Given the description of an element on the screen output the (x, y) to click on. 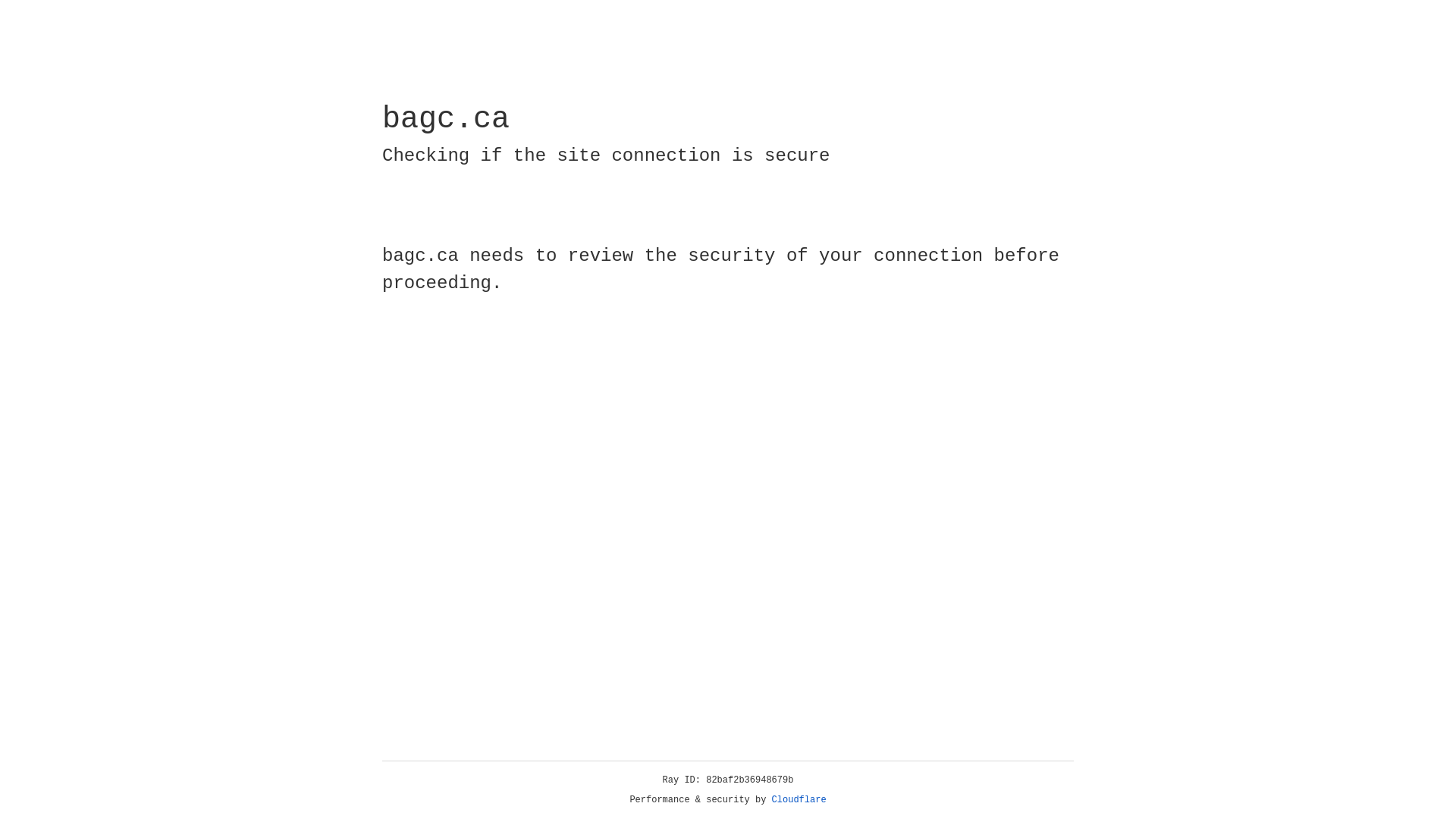
Cloudflare Element type: text (798, 799)
